Given the description of an element on the screen output the (x, y) to click on. 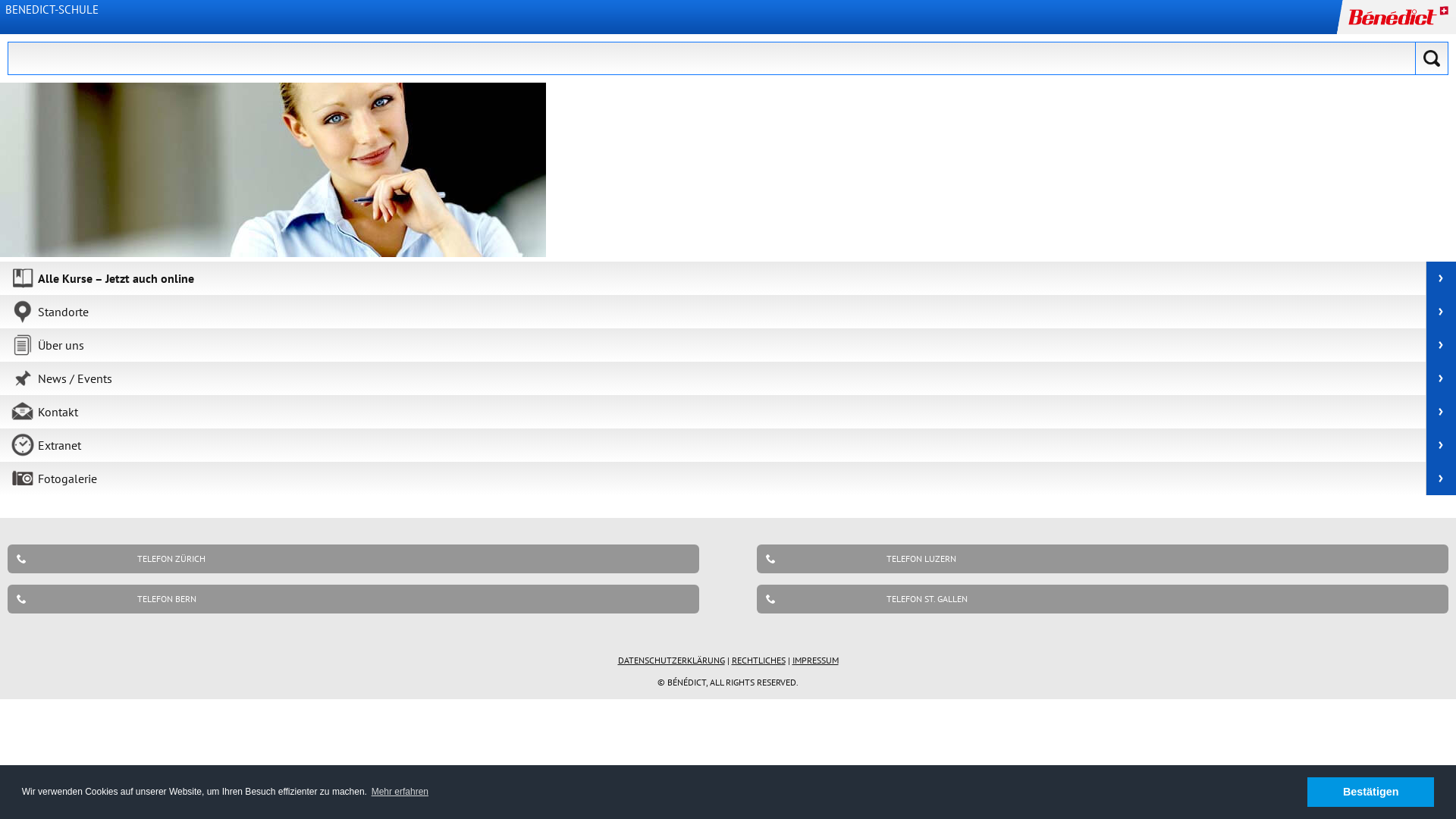
RECHTLICHES Element type: text (757, 659)
IMPRESSUM Element type: text (814, 659)
Suchen Element type: hover (1431, 58)
TELEFON LUZERN Element type: text (1102, 558)
Benedict Sprachschule und Handelsschule Element type: hover (273, 169)
TELEFON ST. GALLEN Element type: text (1102, 598)
TELEFON BERN Element type: text (353, 598)
Mehr erfahren Element type: text (399, 791)
